Given the description of an element on the screen output the (x, y) to click on. 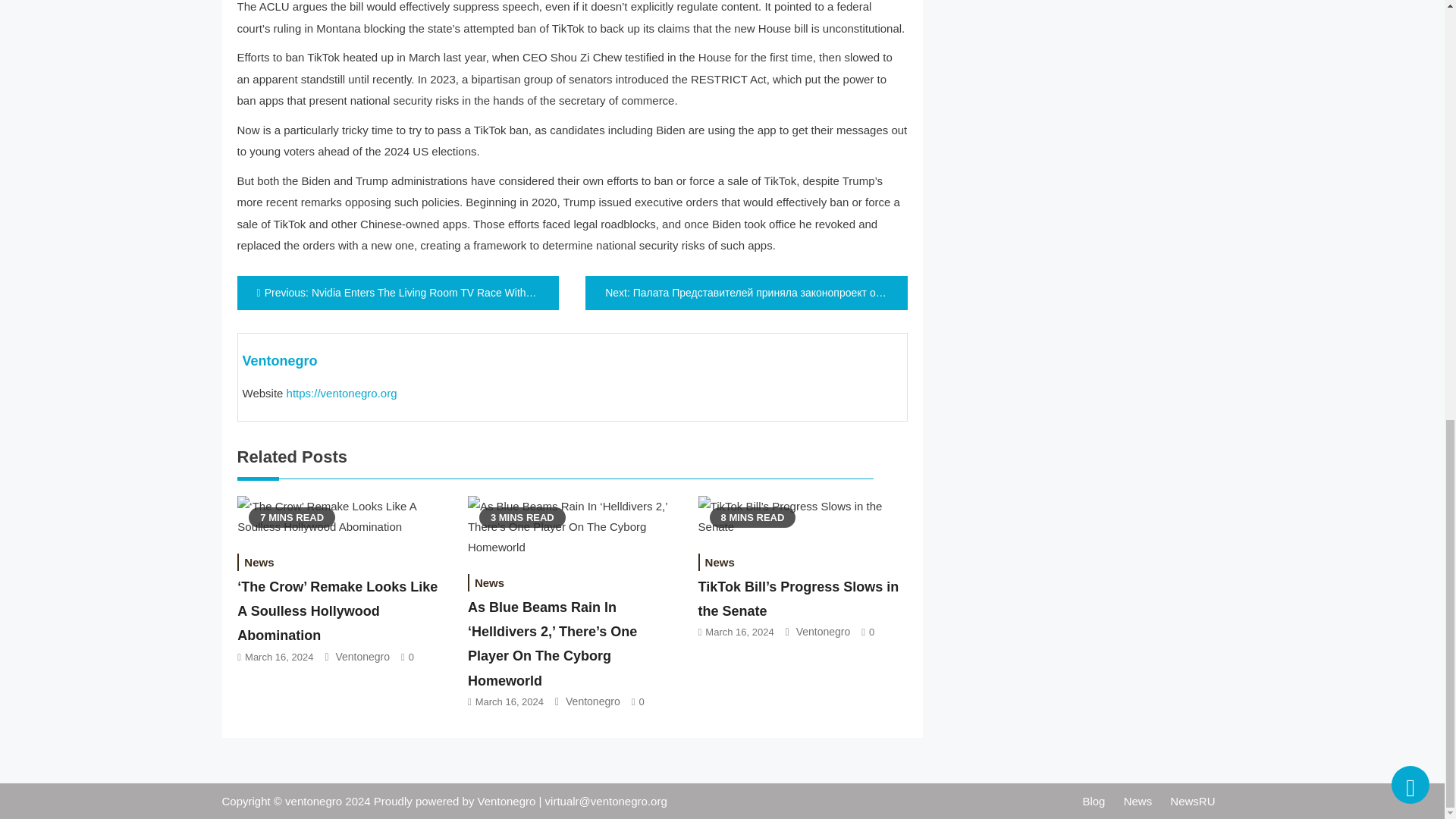
Ventonegro (362, 656)
March 16, 2024 (278, 656)
News (489, 582)
Ventonegro (280, 360)
News (719, 561)
News (259, 561)
Ventonegro (823, 631)
Posts by Ventonegro (280, 360)
Ventonegro (593, 701)
March 16, 2024 (509, 701)
March 16, 2024 (738, 632)
